Given the description of an element on the screen output the (x, y) to click on. 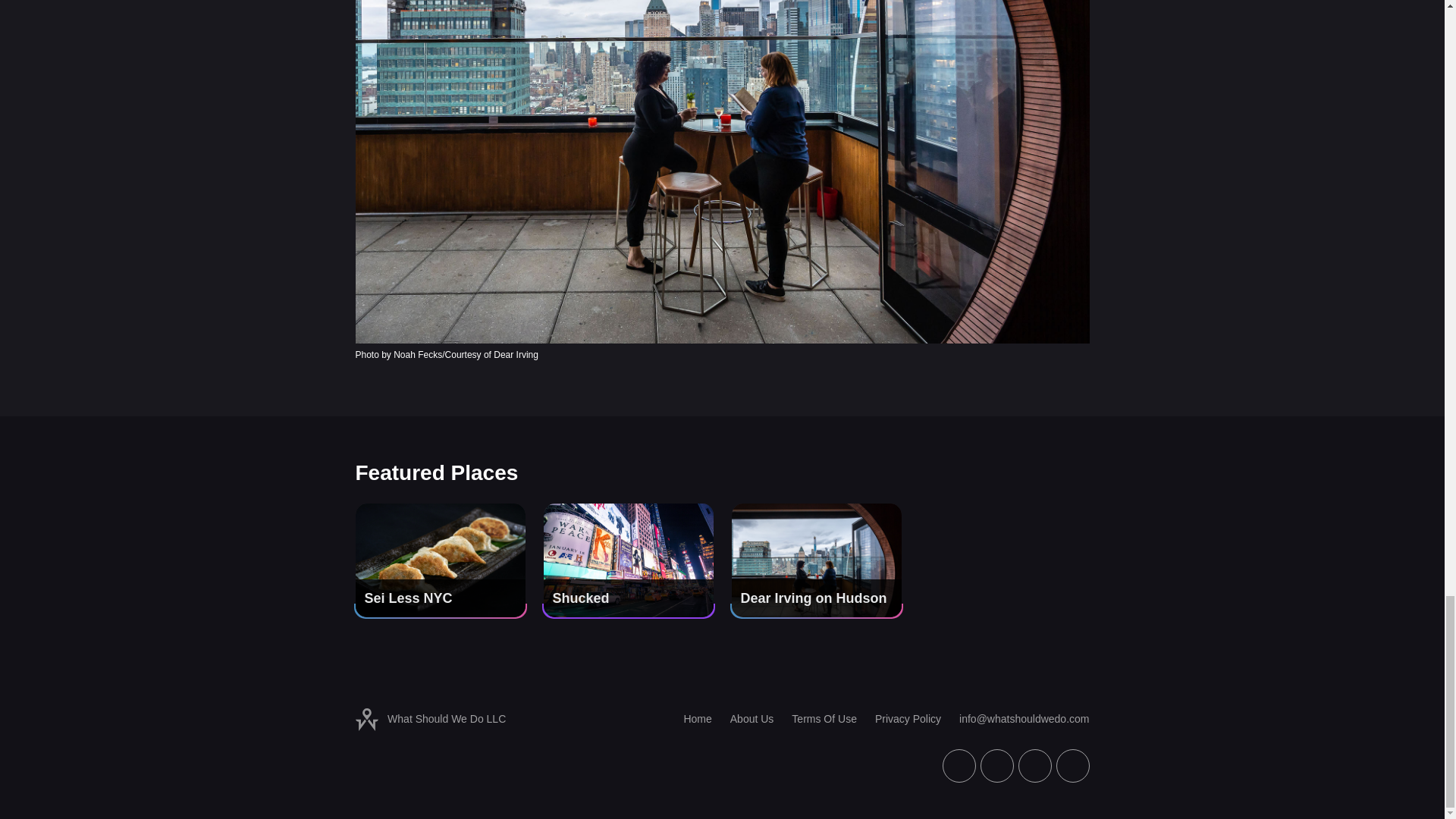
Terms Of Use (815, 719)
Shucked (628, 560)
Dear Irving on Hudson (815, 560)
Home (688, 719)
Privacy Policy (898, 719)
About Us (742, 719)
Sei Less NYC (439, 560)
